Given the description of an element on the screen output the (x, y) to click on. 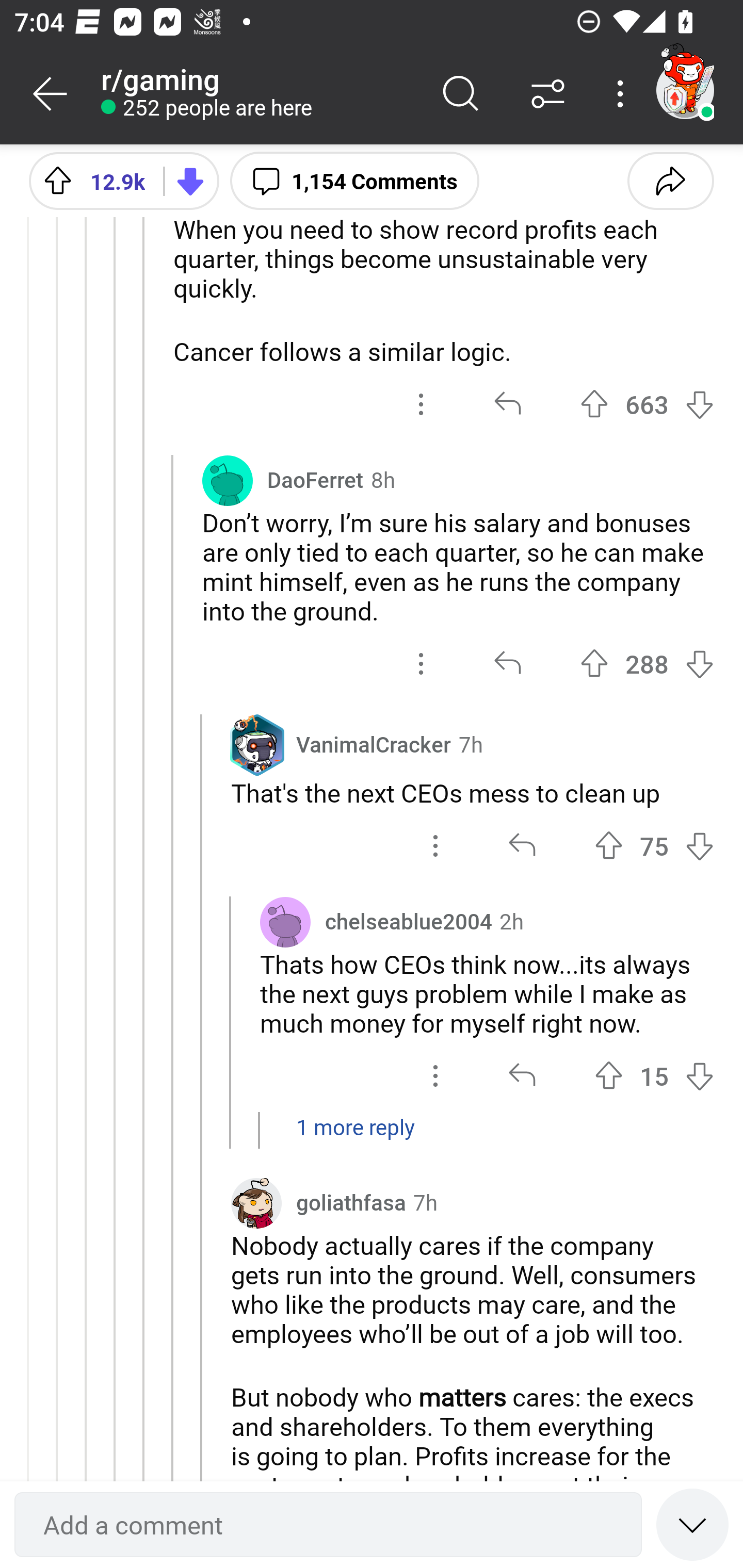
Back (50, 93)
TestAppium002 account (685, 90)
Search comments (460, 93)
Sort comments (547, 93)
More options (623, 93)
r/gaming 252 people are here (259, 93)
Upvote 12.9k (88, 180)
1,154 Comments (354, 180)
Share (670, 180)
Avatar (198, 186)
options (420, 404)
Upvote 663 663 votes Downvote (647, 404)
Avatar (227, 479)
options (420, 663)
Upvote 288 288 votes Downvote (647, 663)
That's the next CEOs mess to clean up (472, 792)
options (435, 845)
Upvote 75 75 votes Downvote (654, 845)
Avatar (285, 921)
options (435, 1075)
Upvote 15 15 votes Downvote (654, 1075)
1 more reply (371, 1137)
Custom avatar (256, 1202)
Speed read (692, 1524)
Add a comment (327, 1524)
